Given the description of an element on the screen output the (x, y) to click on. 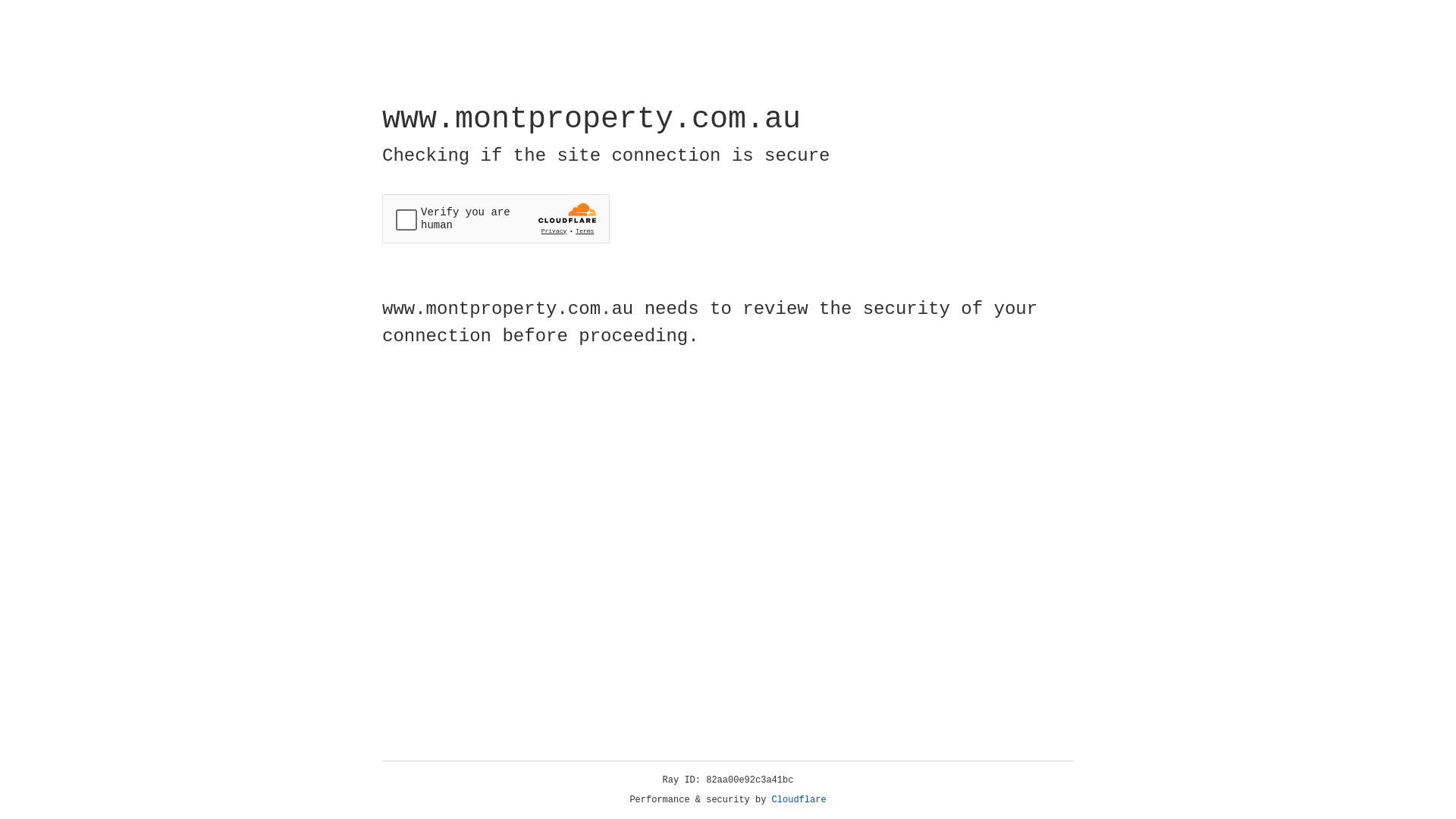
Cloudflare Element type: text (798, 799)
Widget containing a Cloudflare security challenge Element type: hover (495, 218)
